Given the description of an element on the screen output the (x, y) to click on. 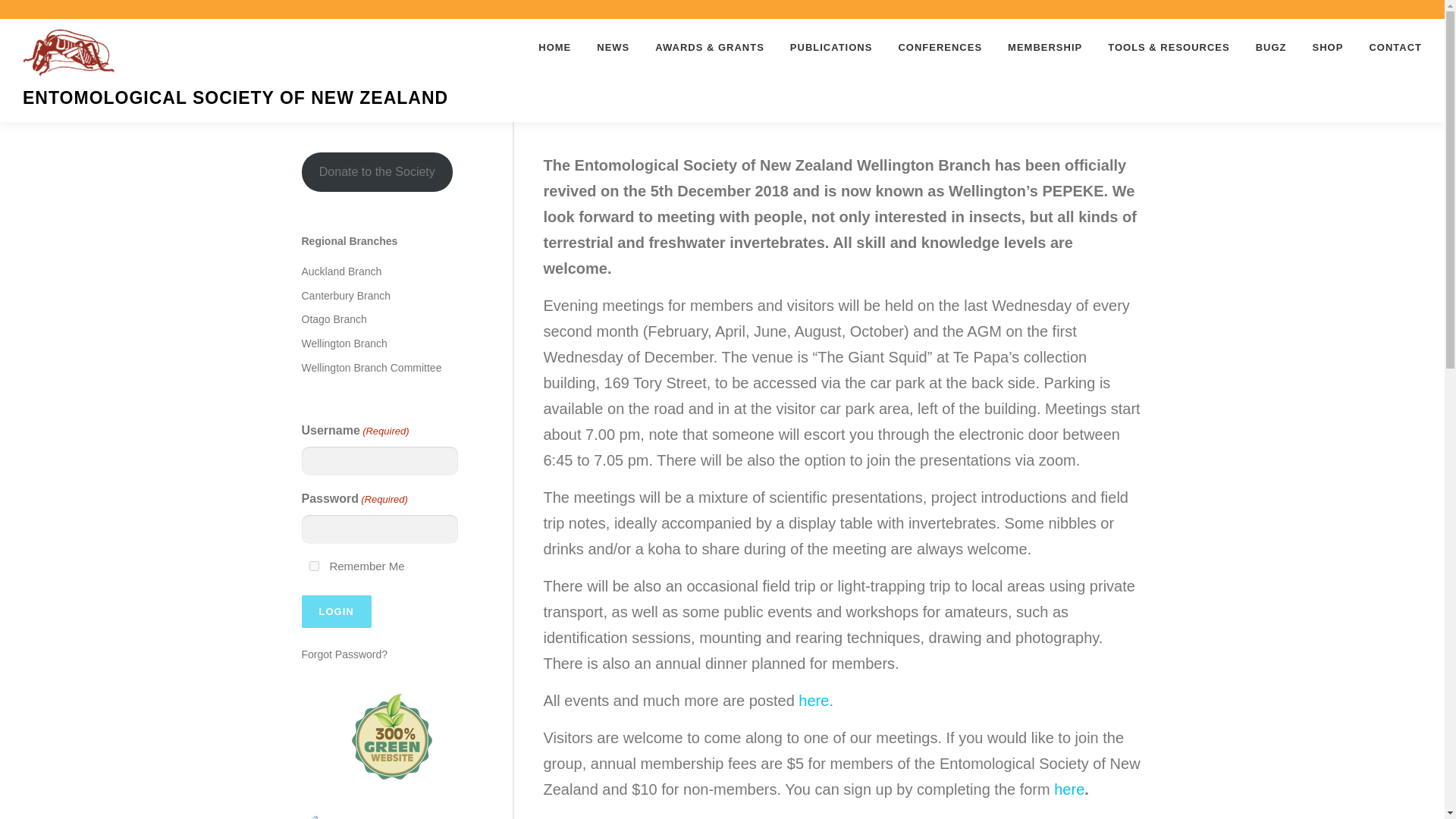
Entomological Society of New Zealand Follow (391, 816)
Wellington Branch (344, 343)
ENTOMOLOGICAL SOCIETY OF NEW ZEALAND (235, 98)
Otago Branch (333, 318)
Auckland Branch (341, 271)
Forgot Password? (344, 654)
NEWS (612, 47)
BUGZ (1271, 47)
Forgot Password? (344, 654)
Donate to the Society (376, 172)
1 (313, 565)
PUBLICATIONS (831, 47)
Wellington Branch Committee (371, 367)
MEMBERSHIP (1044, 47)
